Given the description of an element on the screen output the (x, y) to click on. 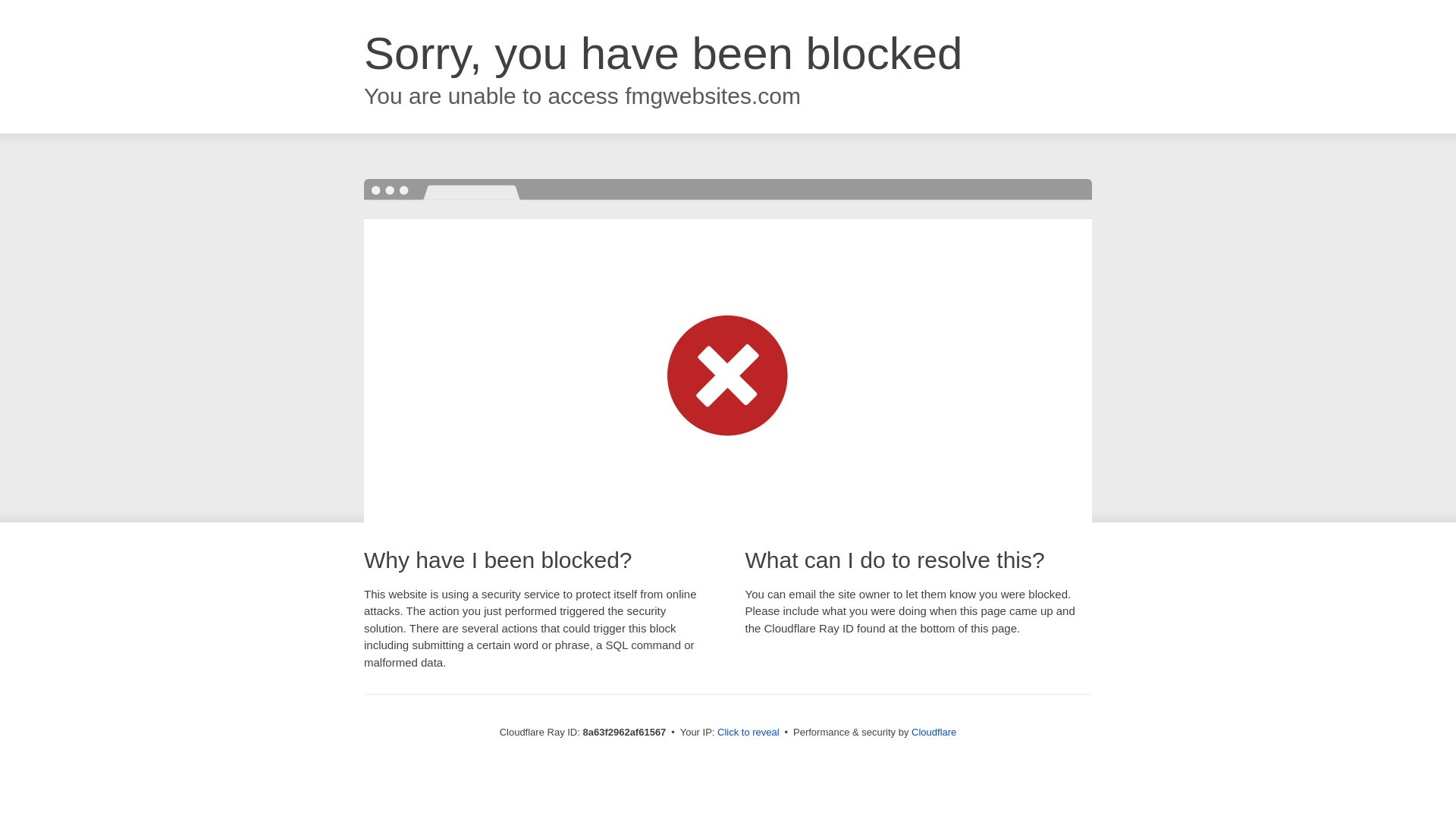
Click to reveal (747, 732)
Cloudflare (933, 731)
